Given the description of an element on the screen output the (x, y) to click on. 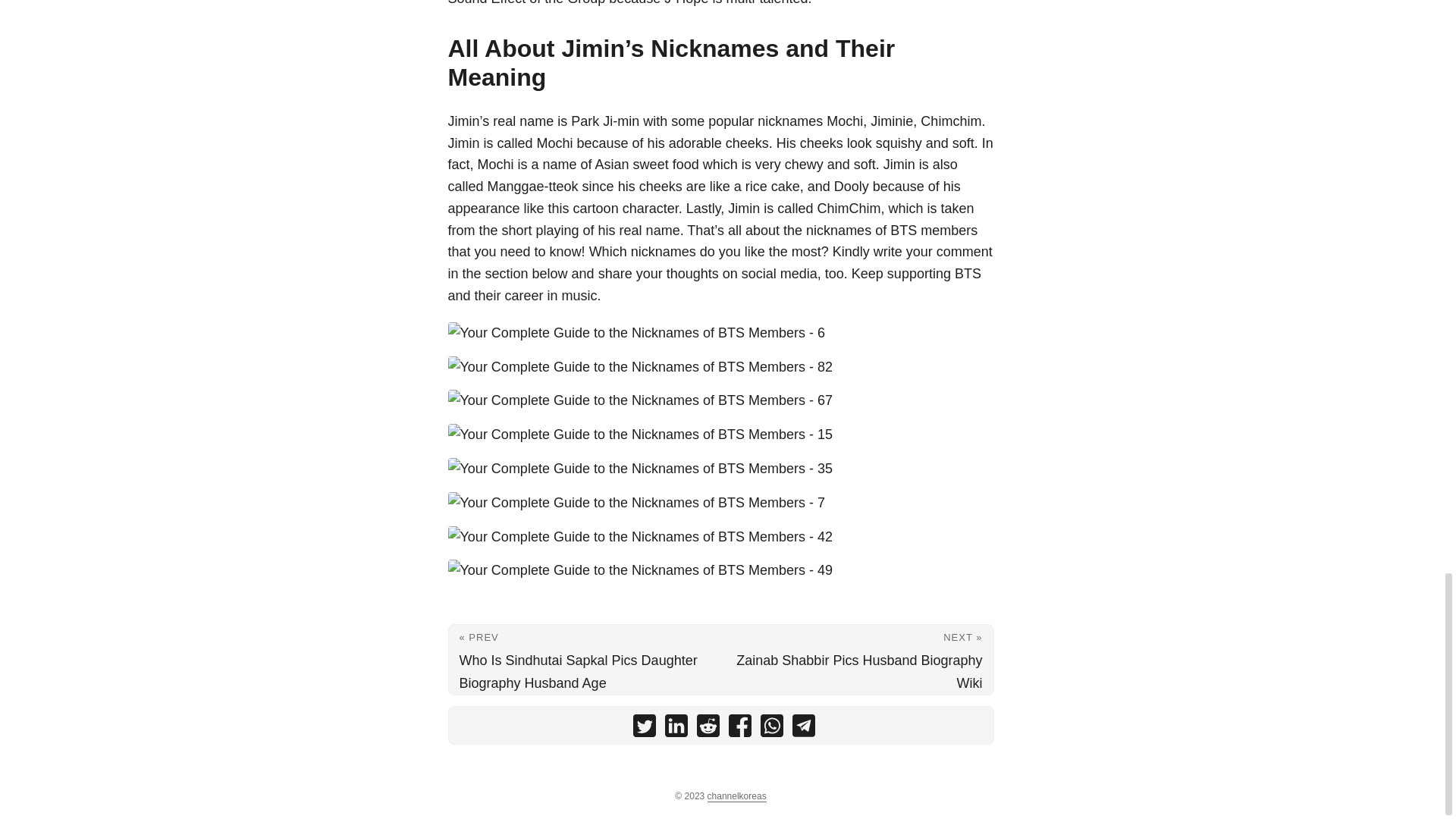
channelkoreas (737, 796)
